Given the description of an element on the screen output the (x, y) to click on. 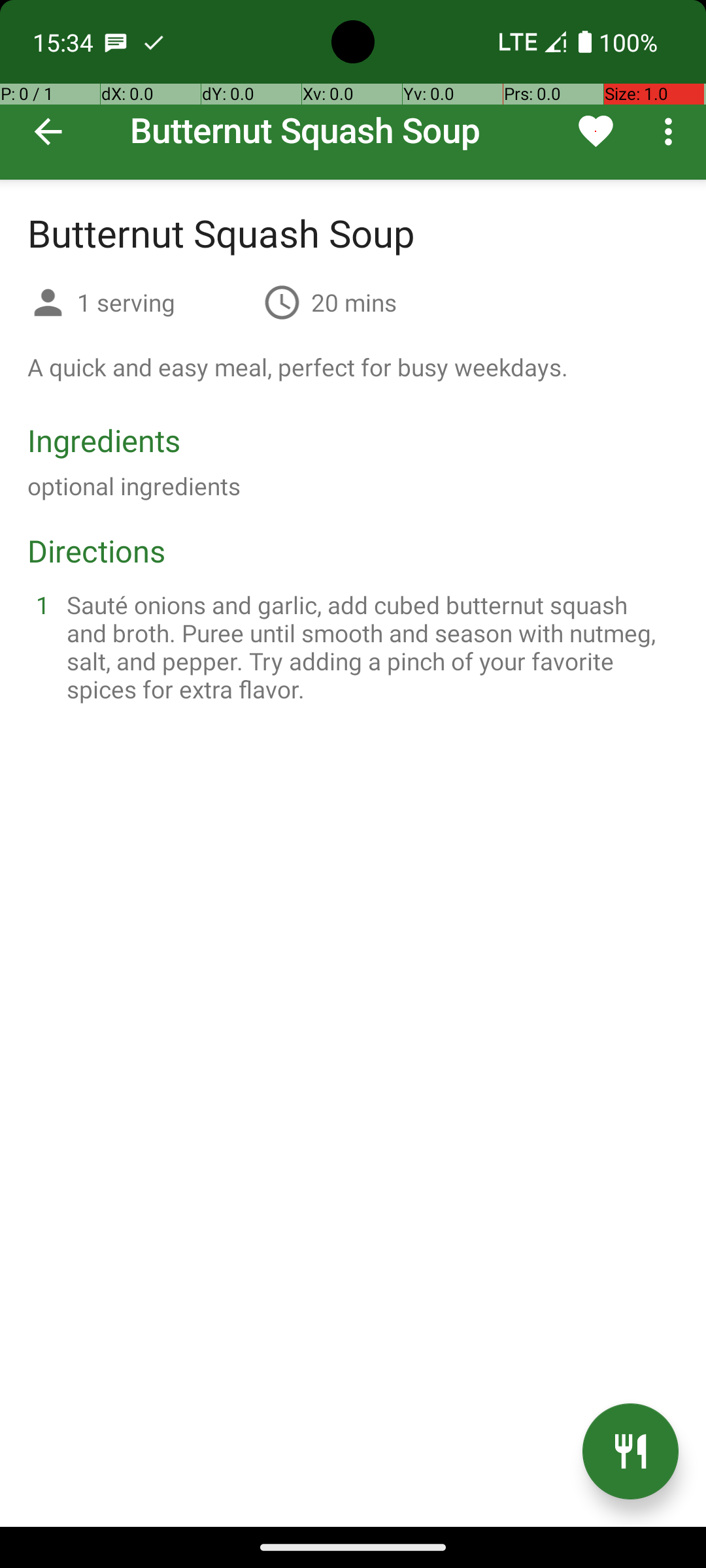
Sauté onions and garlic, add cubed butternut squash and broth. Puree until smooth and season with nutmeg, salt, and pepper. Try adding a pinch of your favorite spices for extra flavor. Element type: android.widget.TextView (368, 646)
